Given the description of an element on the screen output the (x, y) to click on. 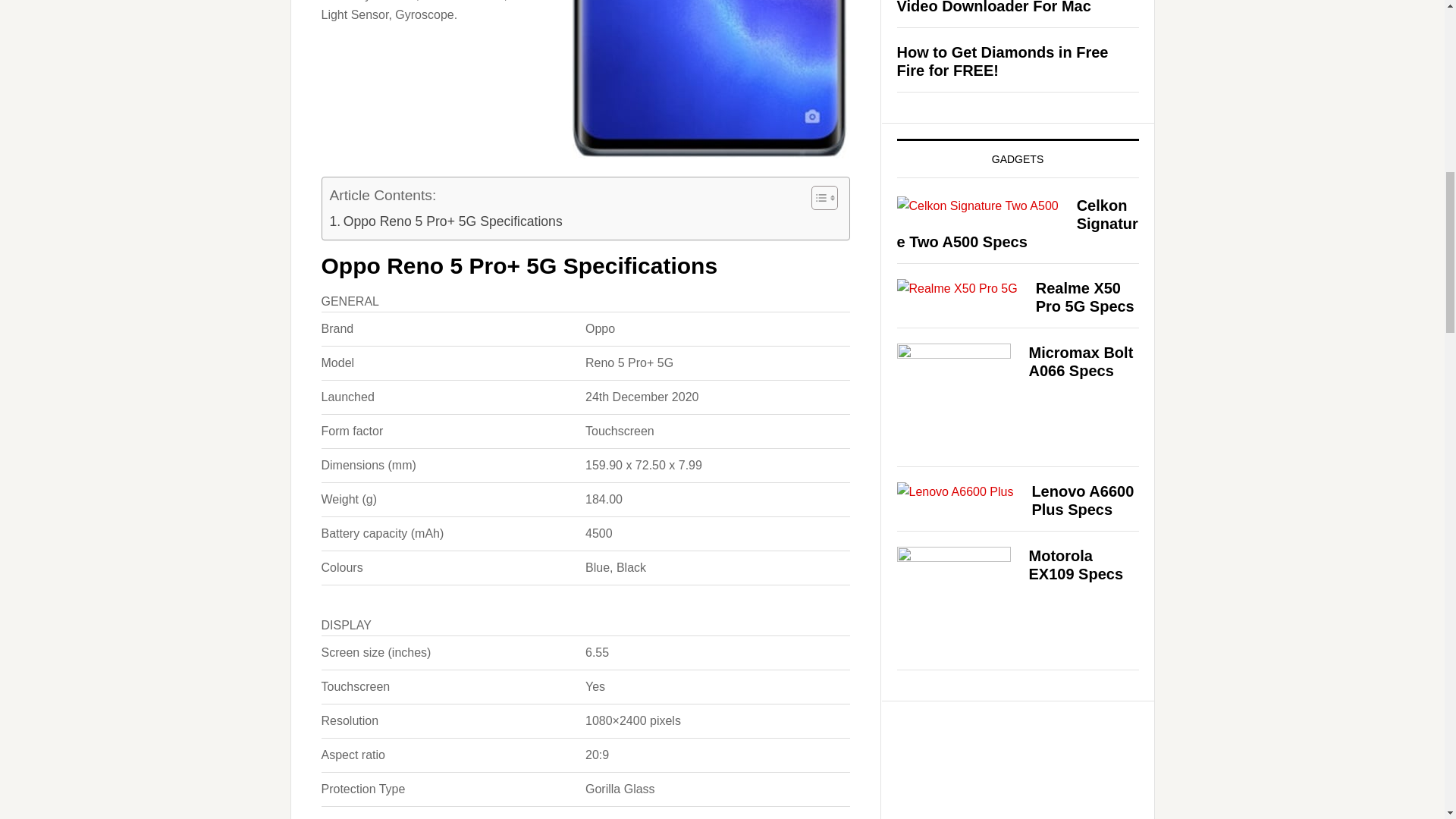
How to Get Diamonds in Free Fire for FREE! (1002, 61)
Micromax Bolt A066 Specs (1079, 361)
Celkon Signature Two A500 Specs (1016, 223)
VideoDuke Review: An Ultimate Video Downloader For Mac (1010, 7)
Realme X50 Pro 5G Specs (1084, 297)
